Given the description of an element on the screen output the (x, y) to click on. 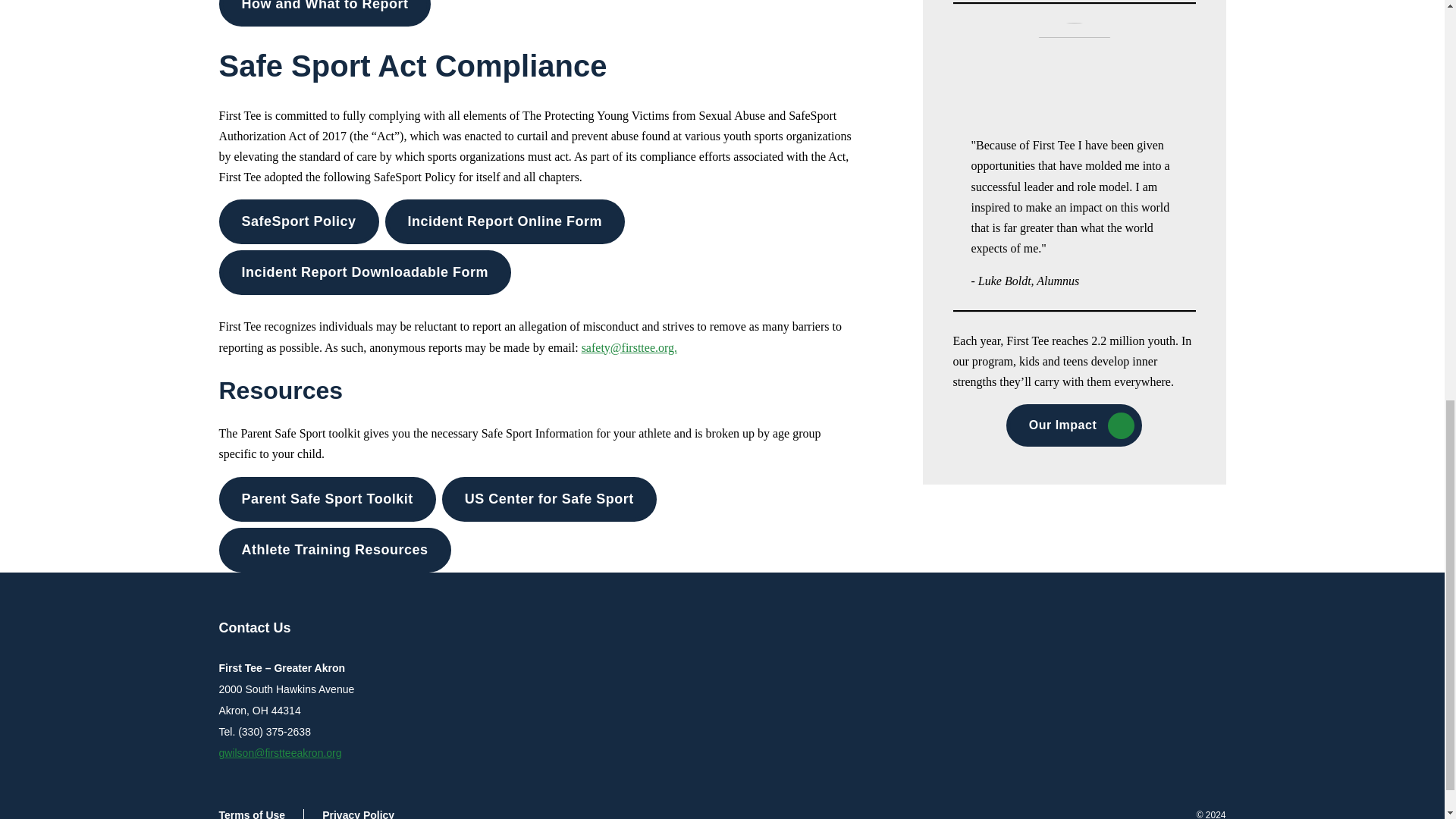
Parent Safe Sport Toolkit (326, 498)
Terms of Use (261, 814)
Our Impact (1073, 425)
How and What to Report (324, 13)
Open facebook in a new window (1171, 629)
Open twitter in a new window (1142, 629)
Open youtube in a new window (1202, 629)
Open instagram in a new window (1111, 629)
US Center for Safe Sport (549, 498)
Incident Report Online Form (505, 221)
Incident Report Downloadable Form (364, 272)
Athlete Training Resources (333, 549)
SafeSport Policy (298, 221)
